Given the description of an element on the screen output the (x, y) to click on. 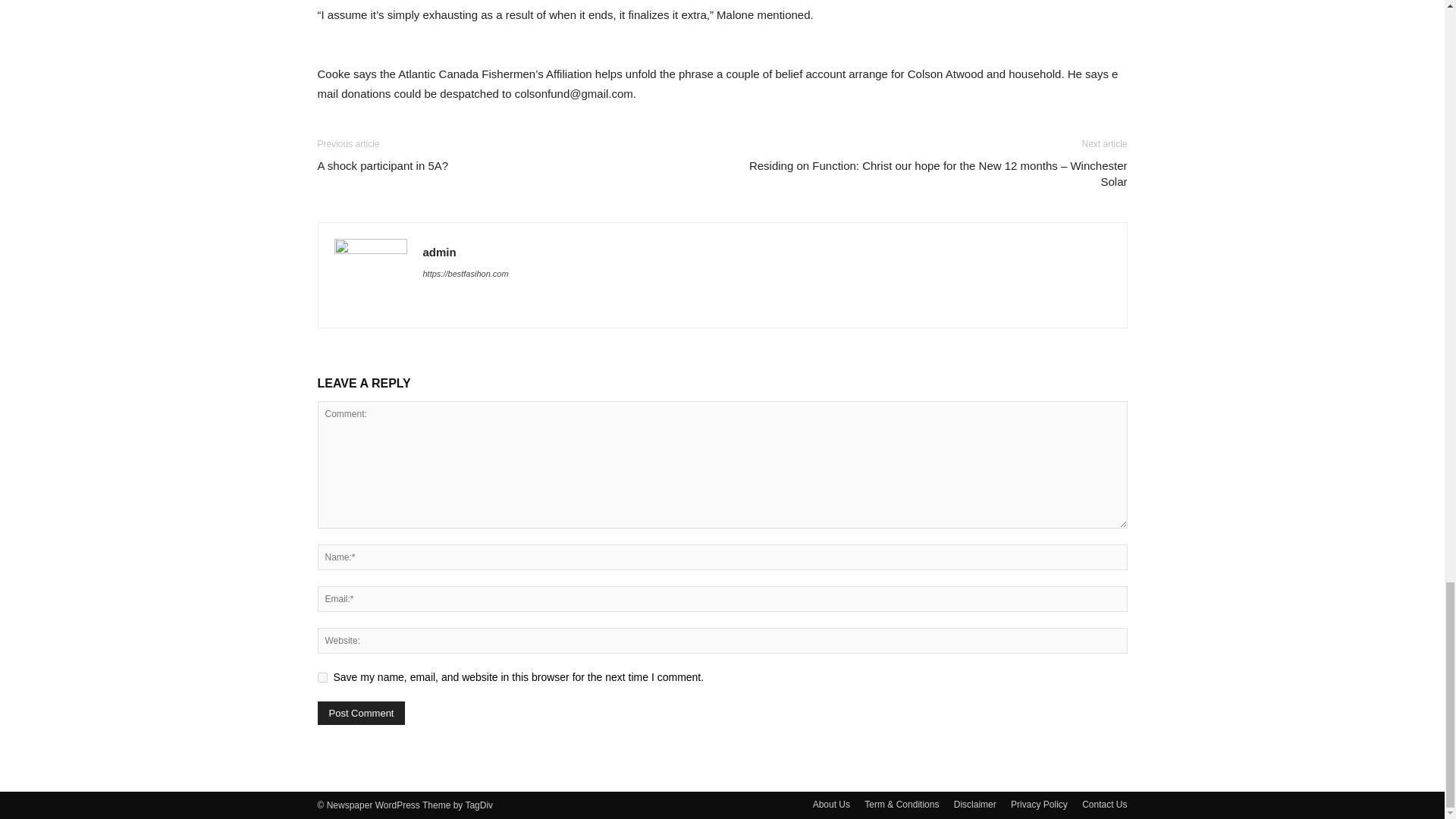
admin (440, 251)
yes (321, 677)
A shock participant in 5A? (382, 165)
Post Comment (360, 712)
